Given the description of an element on the screen output the (x, y) to click on. 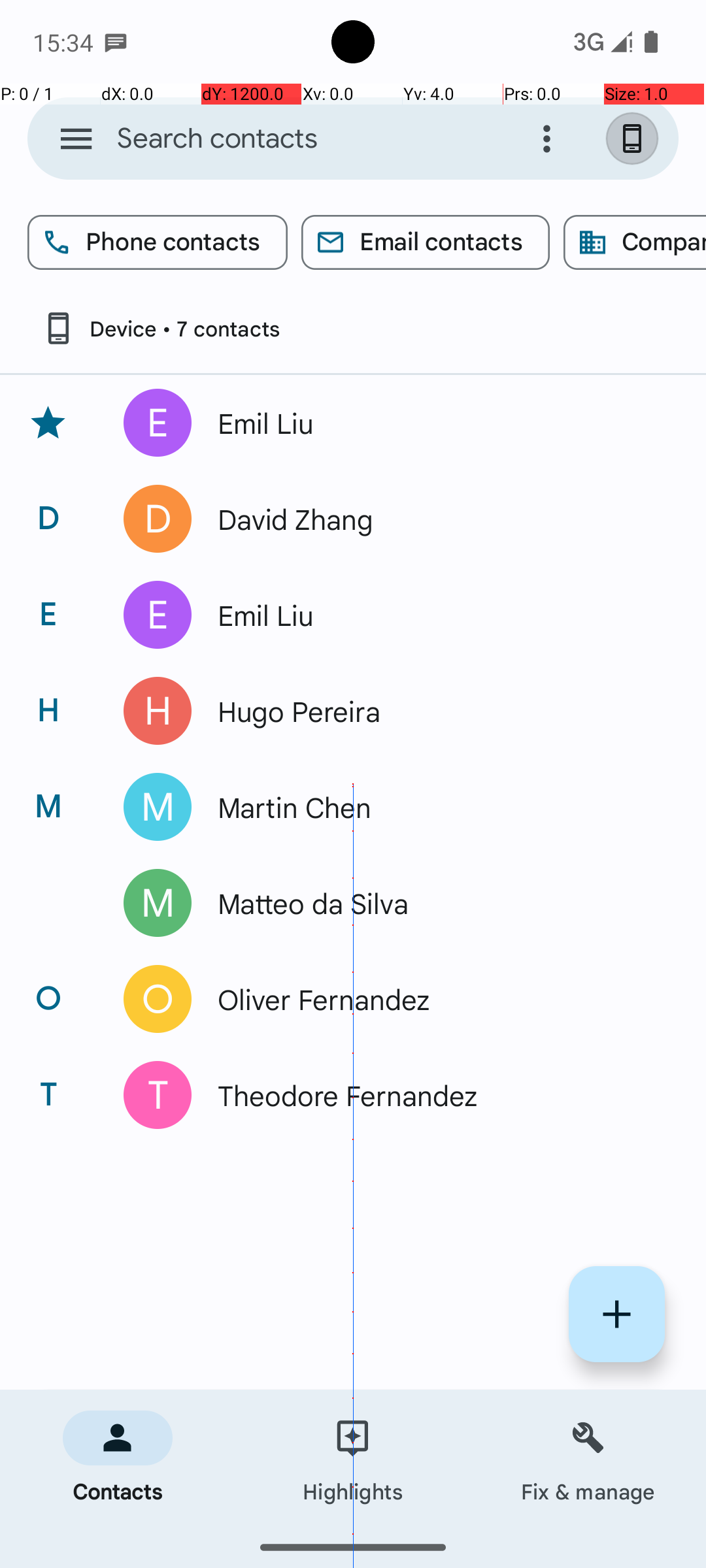
Device • 7 contacts Element type: android.widget.TextView (160, 328)
Emil Liu Element type: android.widget.TextView (434, 422)
David Zhang Element type: android.widget.TextView (434, 518)
Hugo Pereira Element type: android.widget.TextView (434, 710)
Martin Chen Element type: android.widget.TextView (434, 806)
Matteo da Silva Element type: android.widget.TextView (434, 902)
Oliver Fernandez Element type: android.widget.TextView (434, 998)
Theodore Fernandez Element type: android.widget.TextView (434, 1094)
SMS Messenger notification: Martin Chen Element type: android.widget.ImageView (115, 41)
